Given the description of an element on the screen output the (x, y) to click on. 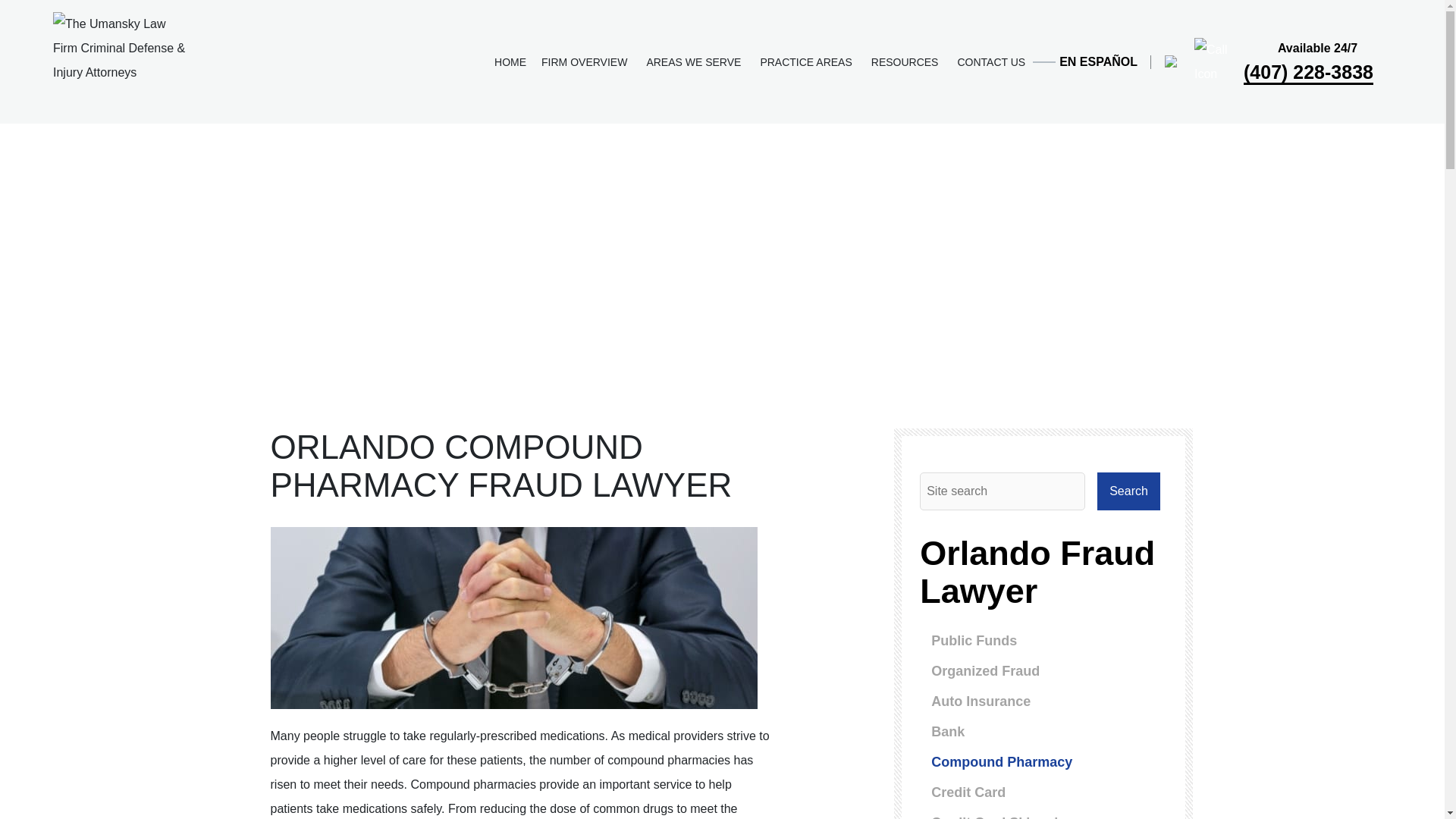
HOME (510, 61)
Search (1128, 491)
FIRM OVERVIEW (586, 61)
Search (1128, 491)
AREAS WE SERVE (695, 61)
